Given the description of an element on the screen output the (x, y) to click on. 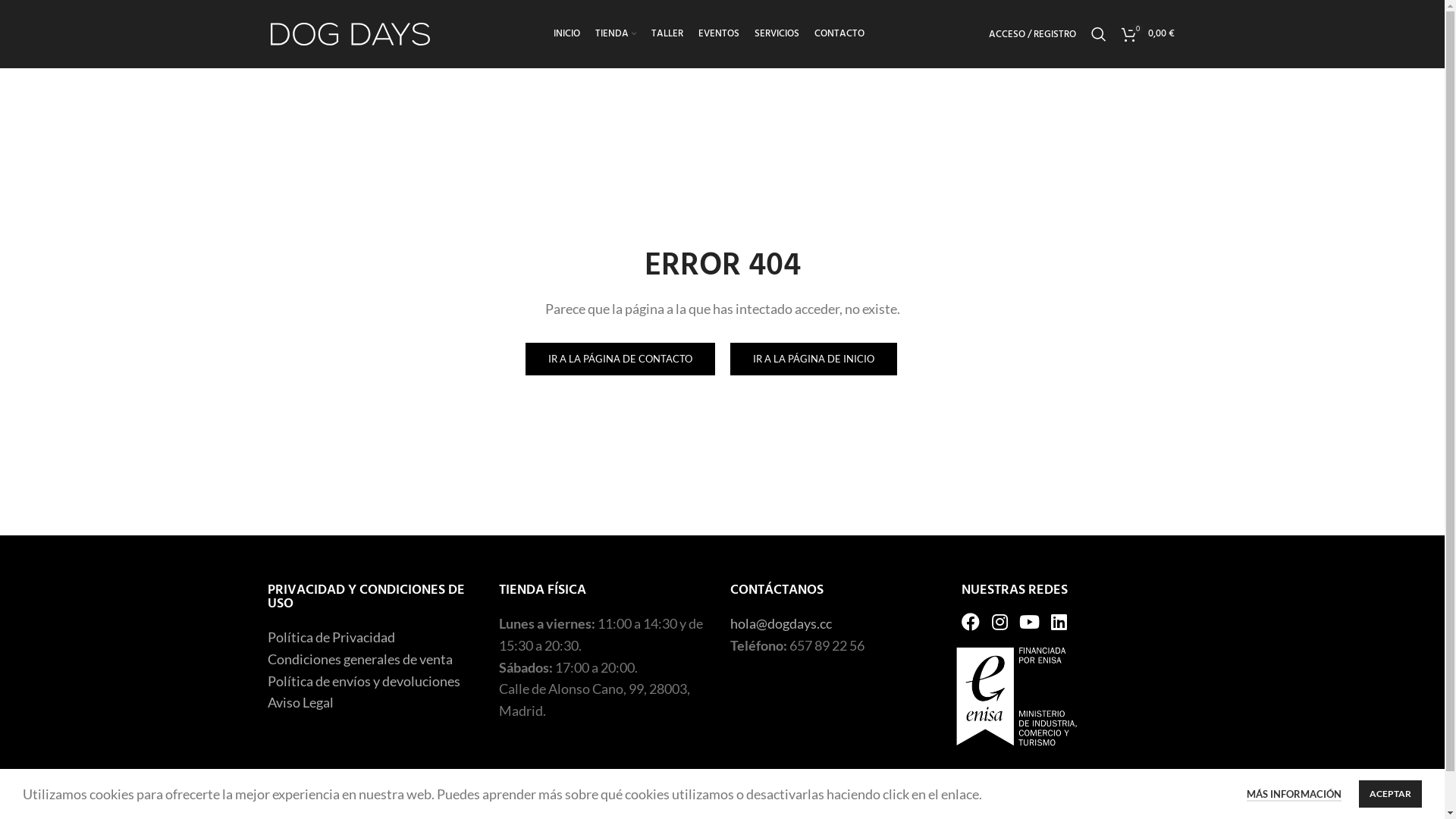
ACCESO / REGISTRO Element type: text (1032, 33)
EVENTOS Element type: text (718, 33)
Aviso Legal Element type: text (299, 701)
INICIO Element type: text (566, 33)
TALLER Element type: text (667, 33)
Buscar Element type: hover (1097, 33)
TIENDA Element type: text (615, 33)
CONTACTO Element type: text (839, 33)
hola@dogdays.cc Element type: text (780, 623)
ACEPTAR Element type: text (1389, 793)
SERVICIOS Element type: text (776, 33)
Condiciones generales de venta Element type: text (358, 658)
